Given the description of an element on the screen output the (x, y) to click on. 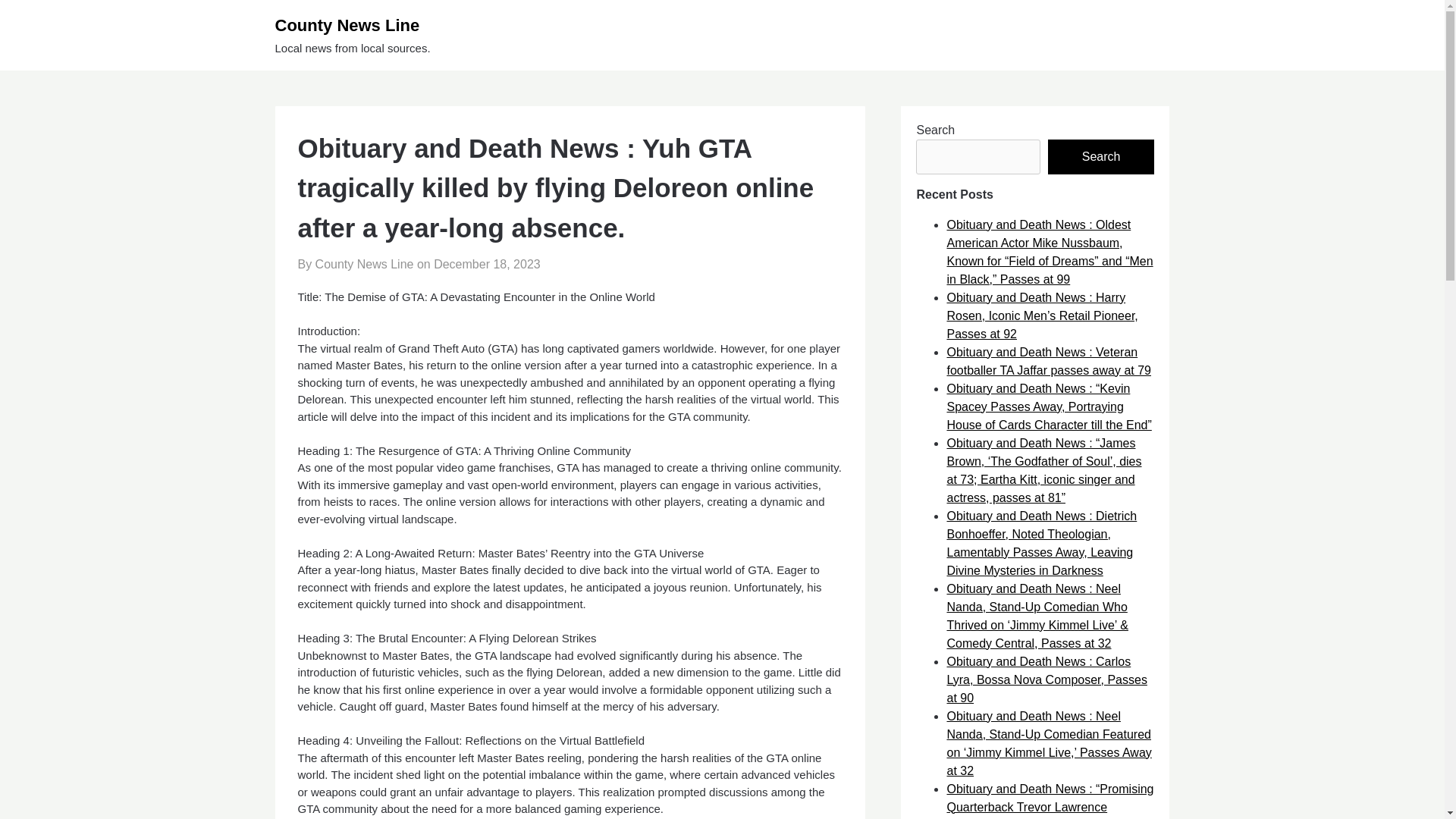
December 18, 2023 (486, 264)
Search (1101, 156)
County News Line (409, 25)
